Given the description of an element on the screen output the (x, y) to click on. 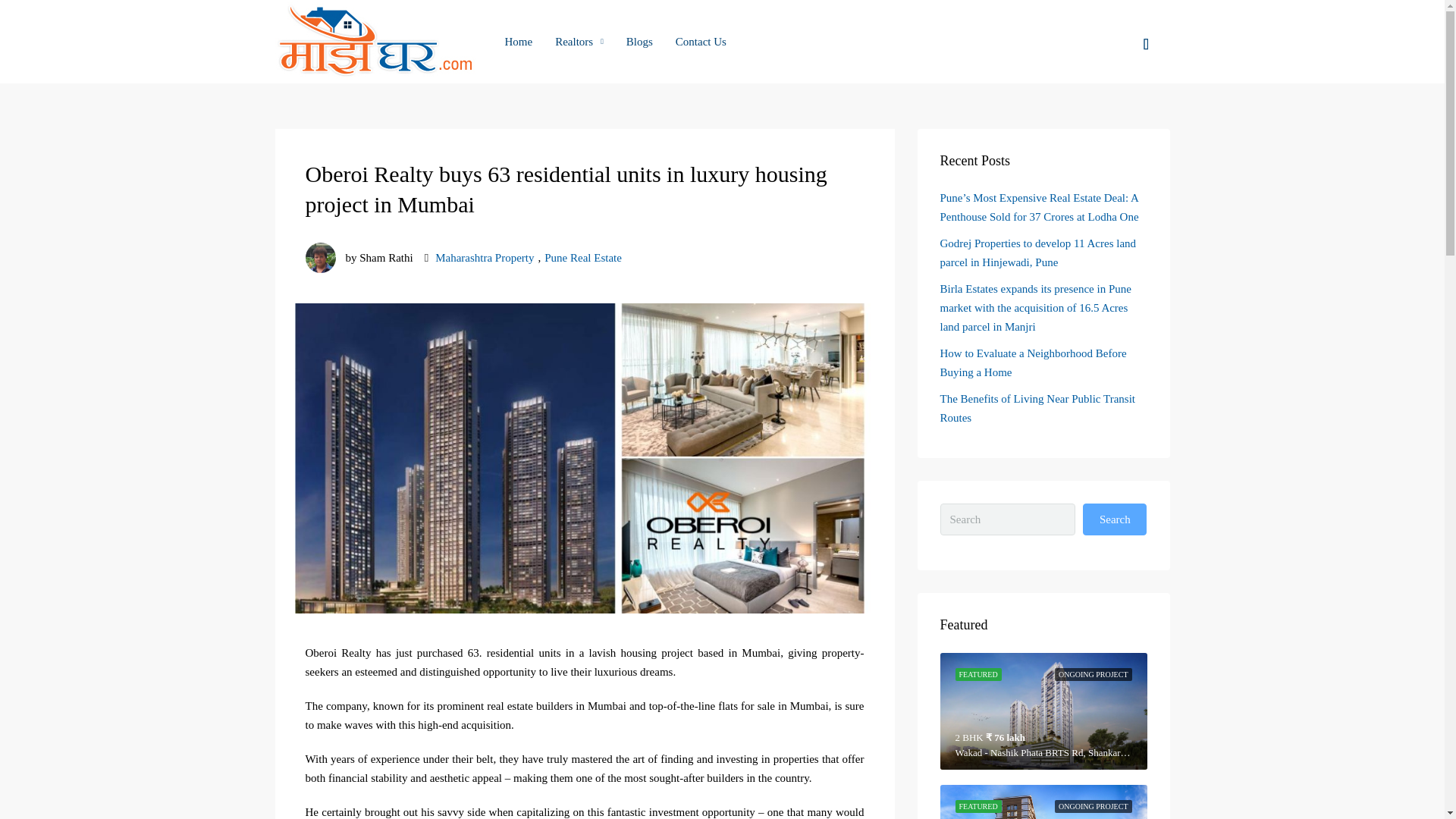
Maharashtra Property (484, 257)
Realtors (578, 41)
Blogs (638, 41)
Contact Us (700, 41)
Pune Real Estate (582, 257)
Home (518, 41)
